Given the description of an element on the screen output the (x, y) to click on. 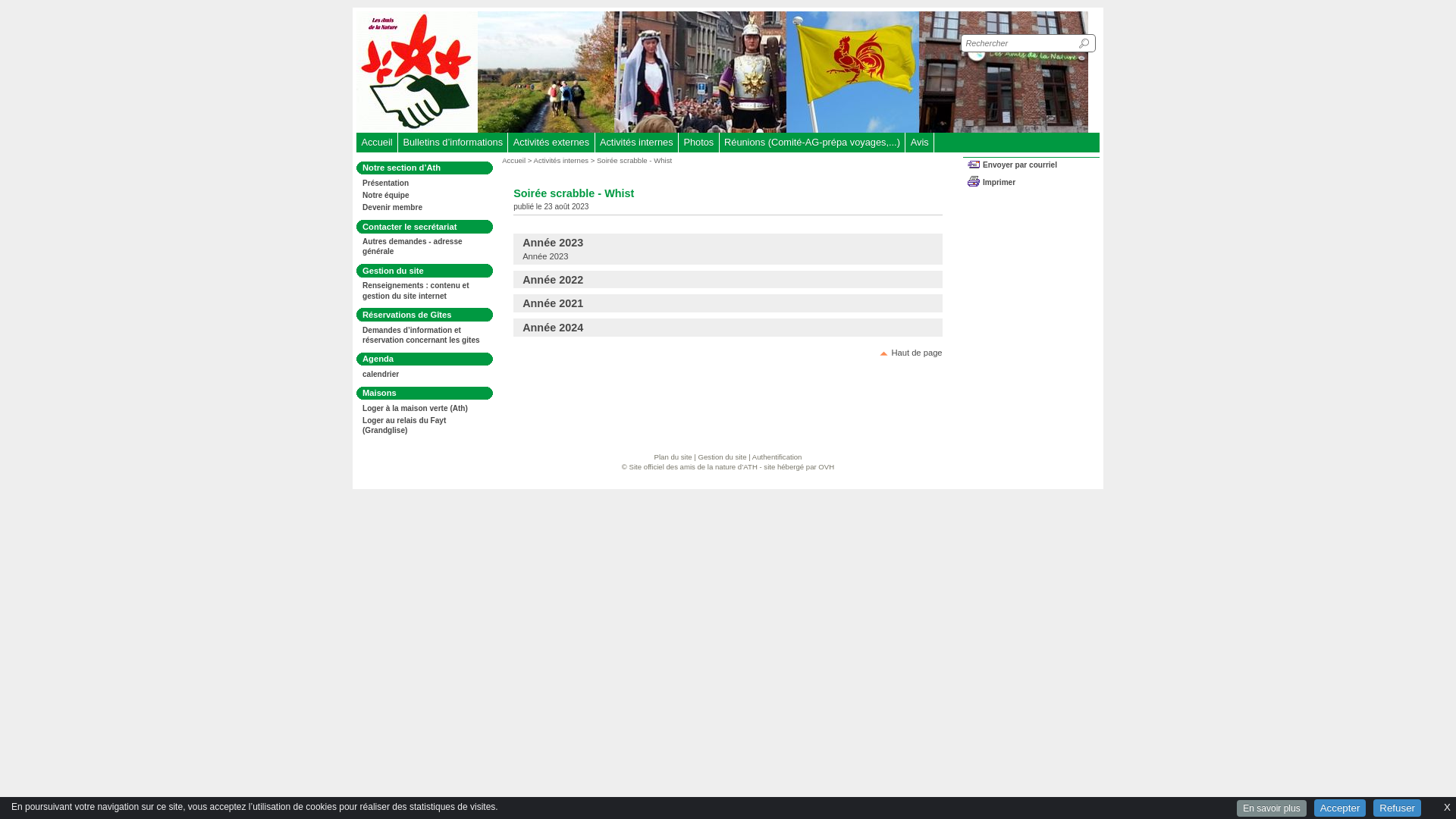
Imprimer Element type: text (1033, 182)
En savoir plus Element type: text (1270, 808)
Loger au relais du Fayt (Grandglise) Element type: text (403, 425)
X Element type: text (1446, 805)
Ok Element type: text (1085, 43)
Accepter Element type: text (1340, 807)
calendrier Element type: text (380, 374)
Renseignements : contenu et gestion du site internet Element type: text (415, 290)
Haut de page Element type: text (910, 352)
Gestion du site Element type: text (722, 456)
Authentification Element type: text (777, 456)
Envoyer par courriel Element type: text (1033, 166)
Refuser Element type: text (1397, 807)
Accueil Element type: text (513, 160)
Devenir membre Element type: text (392, 207)
Avis Element type: text (919, 142)
Plan du site Element type: text (673, 456)
Photos Element type: text (698, 142)
Accueil Element type: text (376, 142)
Lancer la recherche Element type: hover (1085, 43)
